Given the description of an element on the screen output the (x, y) to click on. 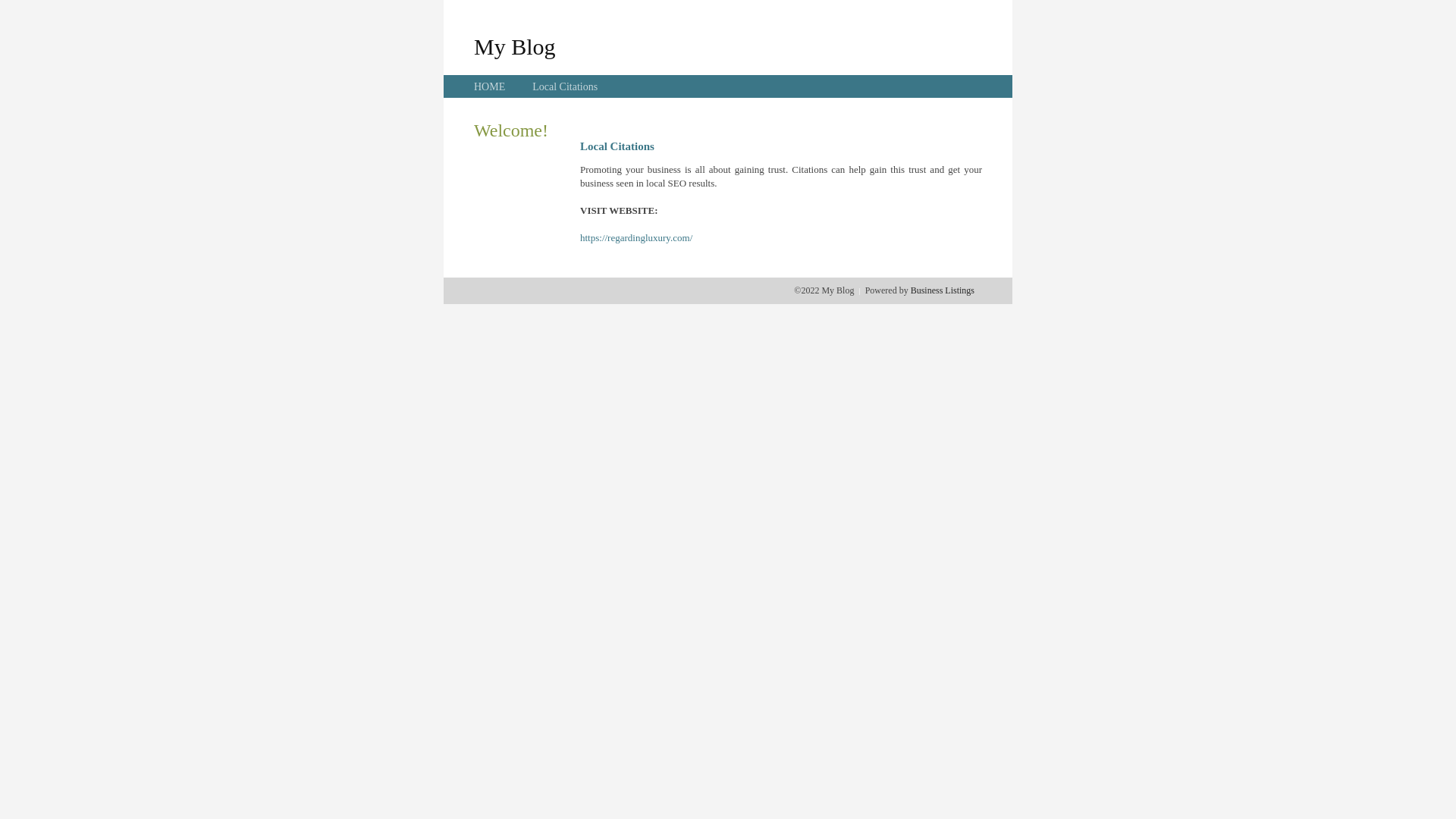
HOME Element type: text (489, 86)
My Blog Element type: text (514, 46)
Local Citations Element type: text (564, 86)
https://regardingluxury.com/ Element type: text (636, 237)
Business Listings Element type: text (942, 290)
